Given the description of an element on the screen output the (x, y) to click on. 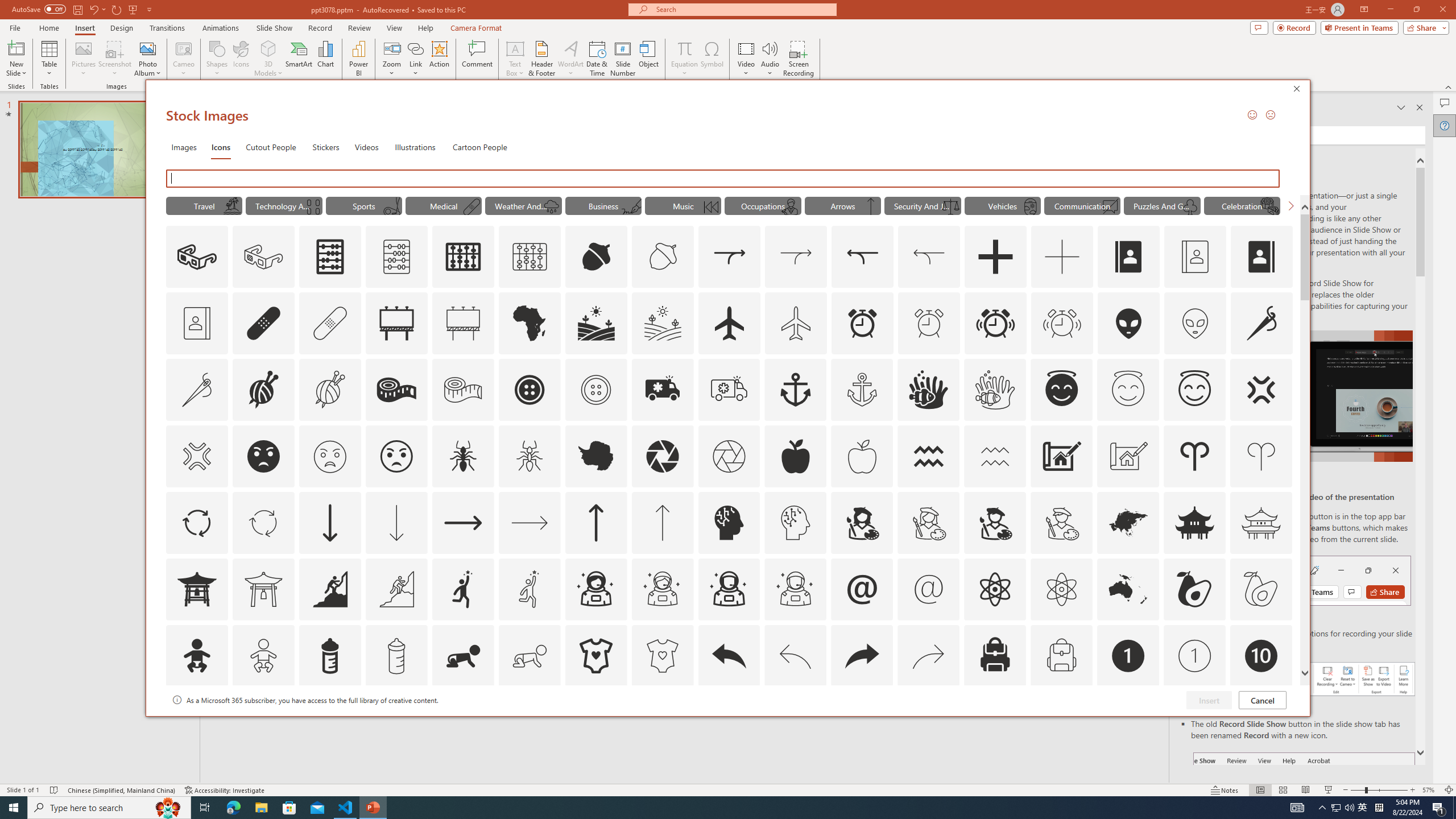
AutomationID: Icons_BabyOnesie_M (662, 655)
AutomationID: Icons_Australia (1128, 588)
Screenshot (114, 58)
Illustrations (415, 146)
New Photo Album... (147, 48)
AutomationID: Icons_Badge2 (263, 721)
AutomationID: Icons_Back_RTL_M (928, 655)
AutomationID: Icons_Add (995, 256)
AutomationID: Icons_Badge2_M (329, 721)
Photo Album... (147, 58)
